Given the description of an element on the screen output the (x, y) to click on. 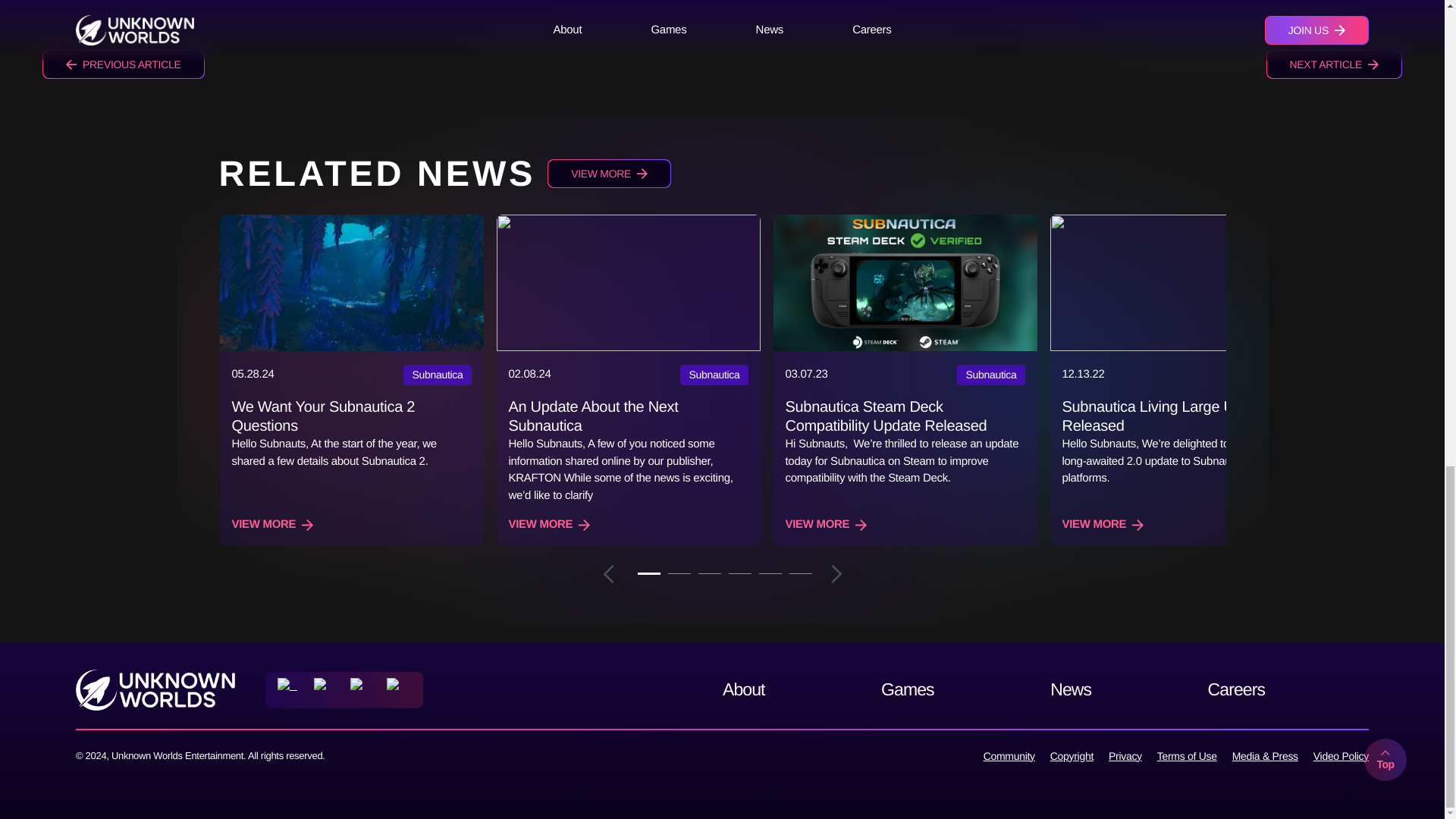
Subnautica (713, 374)
Subnautica (436, 374)
VIEW MORE (548, 524)
VIEW MORE (272, 524)
Subnautica (990, 374)
PREVIOUS ARTICLE (123, 63)
NEXT ARTICLE (1334, 63)
VIEW MORE (1101, 524)
VIEW MORE (826, 524)
VIEW MORE (609, 173)
